Given the description of an element on the screen output the (x, y) to click on. 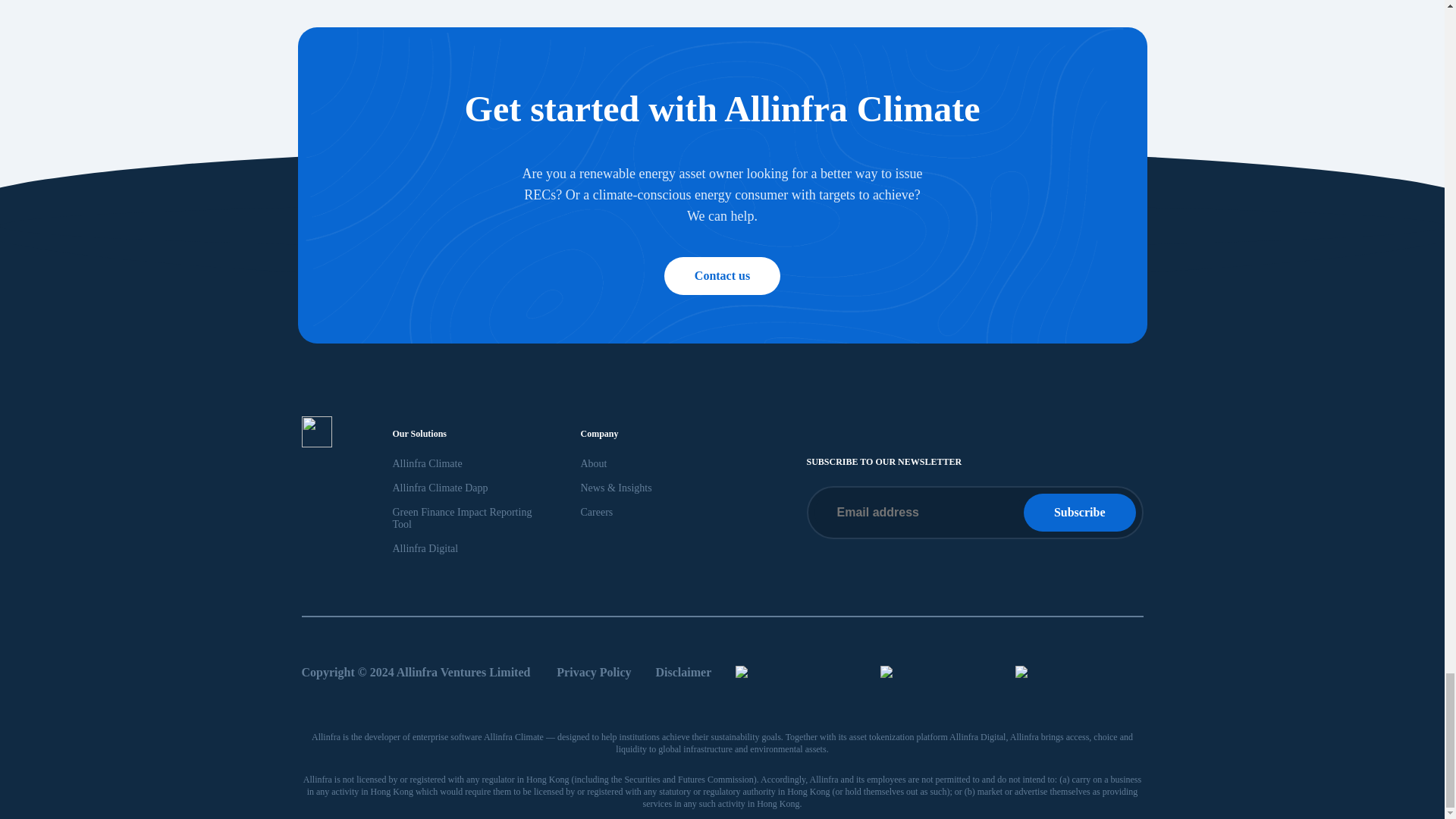
Disclaimer (683, 671)
Allinfra Digital (425, 548)
Allinfra Climate Dapp (440, 487)
Subscribe (1079, 512)
Careers (596, 511)
About (593, 463)
Contact us (721, 275)
Privacy Policy (593, 671)
Green Finance Impact Reporting Tool (462, 517)
Contact us (721, 275)
Allinfra Climate (428, 463)
